Given the description of an element on the screen output the (x, y) to click on. 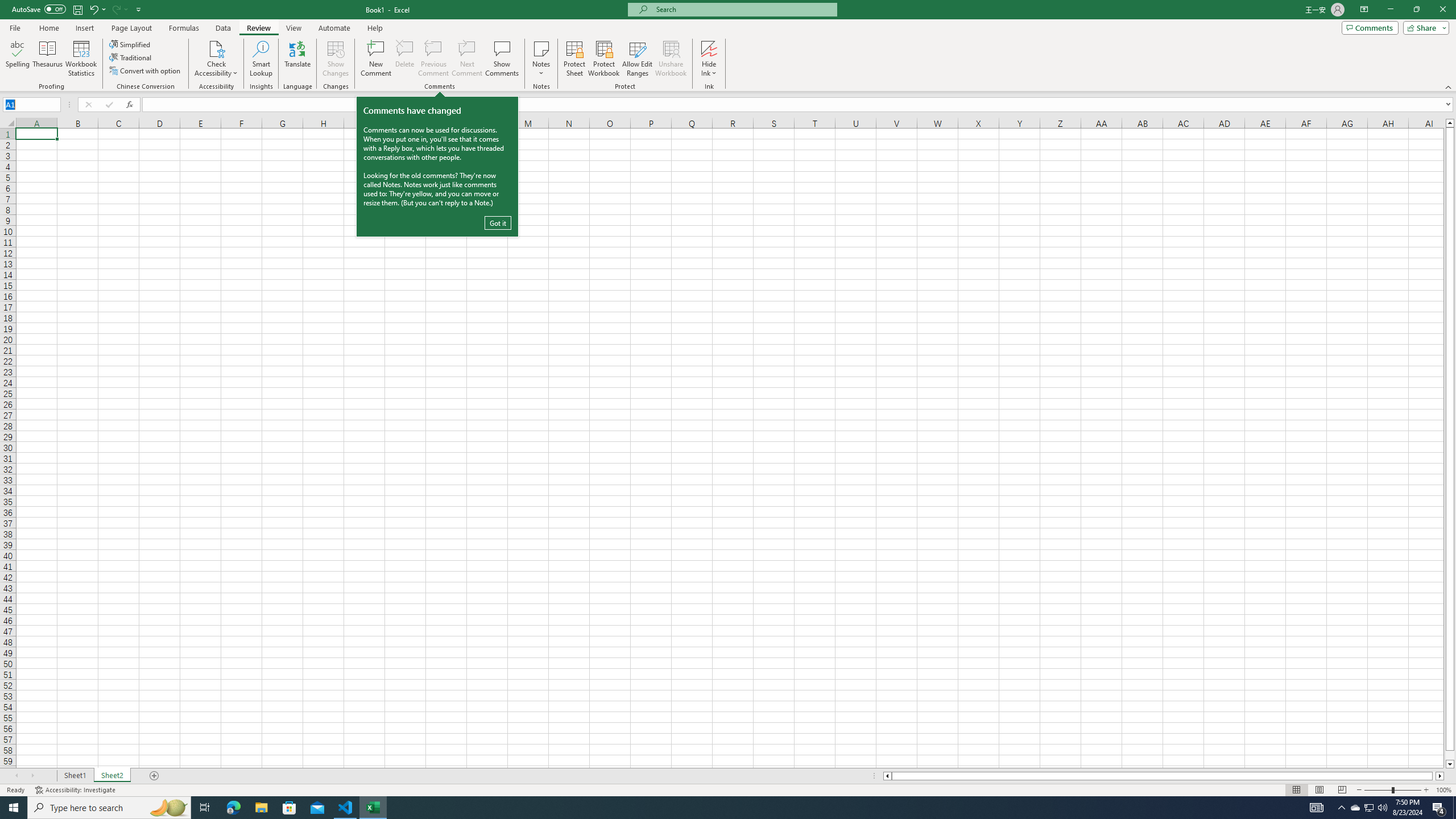
Hide Ink (708, 48)
Protect Sheet... (574, 58)
Class: MsoCommandBar (728, 45)
Spelling... (17, 58)
Smart Lookup (260, 58)
Translate (297, 58)
Check Accessibility (215, 58)
